Given the description of an element on the screen output the (x, y) to click on. 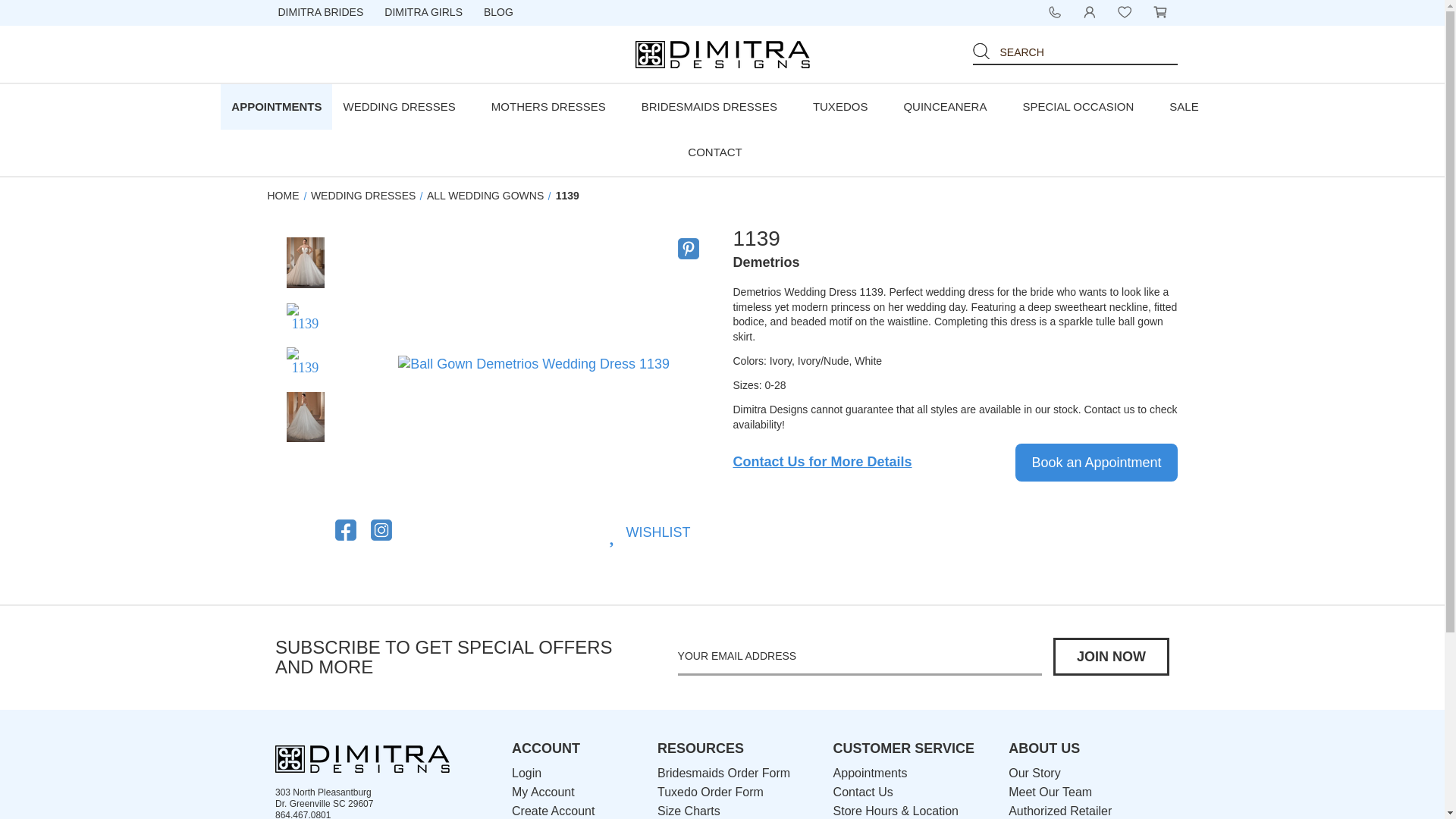
Join NOw (1110, 656)
DIMITRA BRIDES (320, 12)
APPOINTMENTS (276, 106)
Ball Gown Demetrios Wedding Dress 1139 (533, 364)
Facebook (345, 529)
1139 (305, 361)
1139 (305, 317)
DIMITRA DESIGNS (362, 759)
Pinterest (688, 248)
DIMITRA DESIGNS (721, 53)
